Given the description of an element on the screen output the (x, y) to click on. 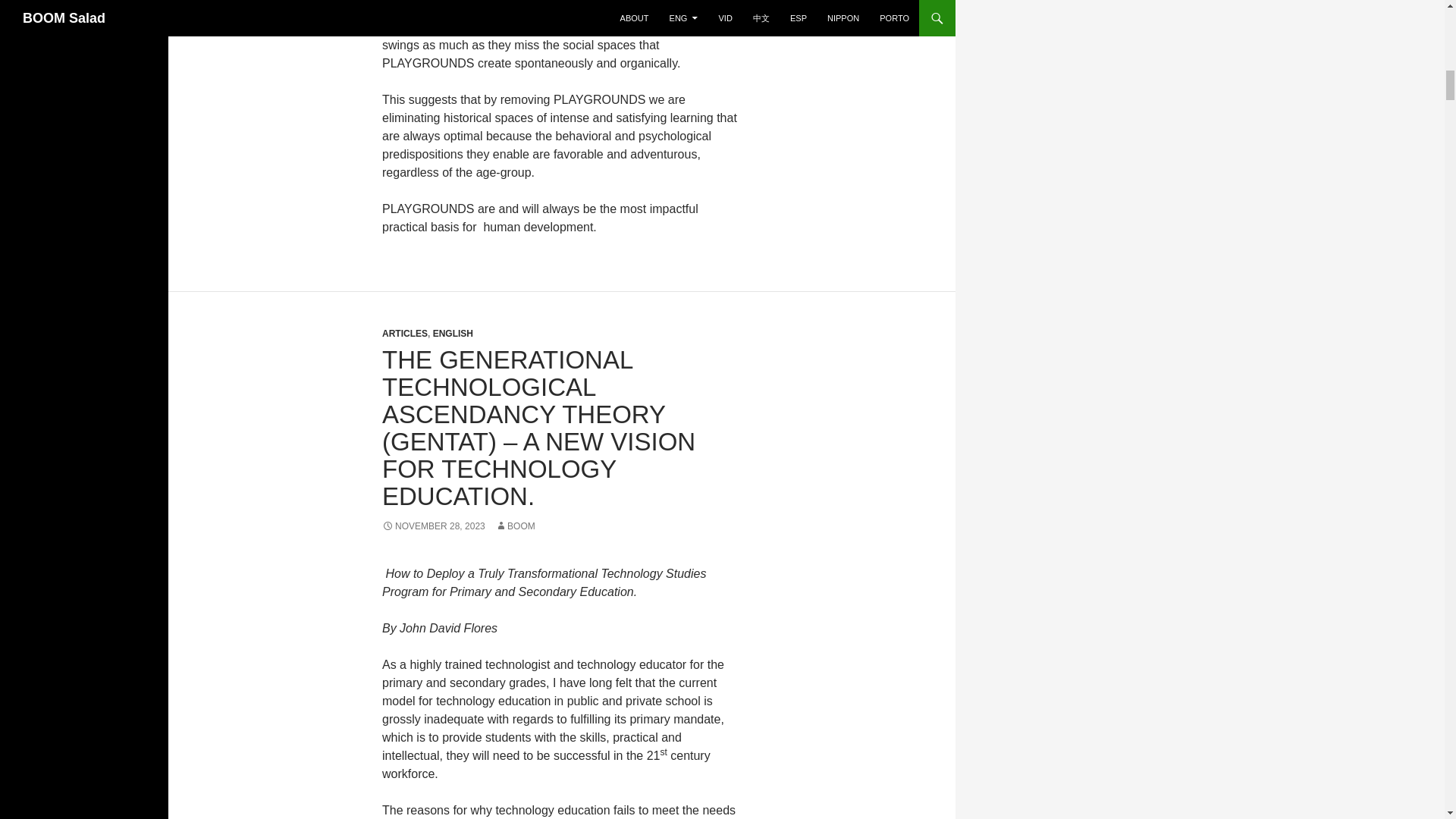
NOVEMBER 28, 2023 (432, 525)
BOOM (515, 525)
ARTICLES (404, 333)
ENGLISH (452, 333)
